Given the description of an element on the screen output the (x, y) to click on. 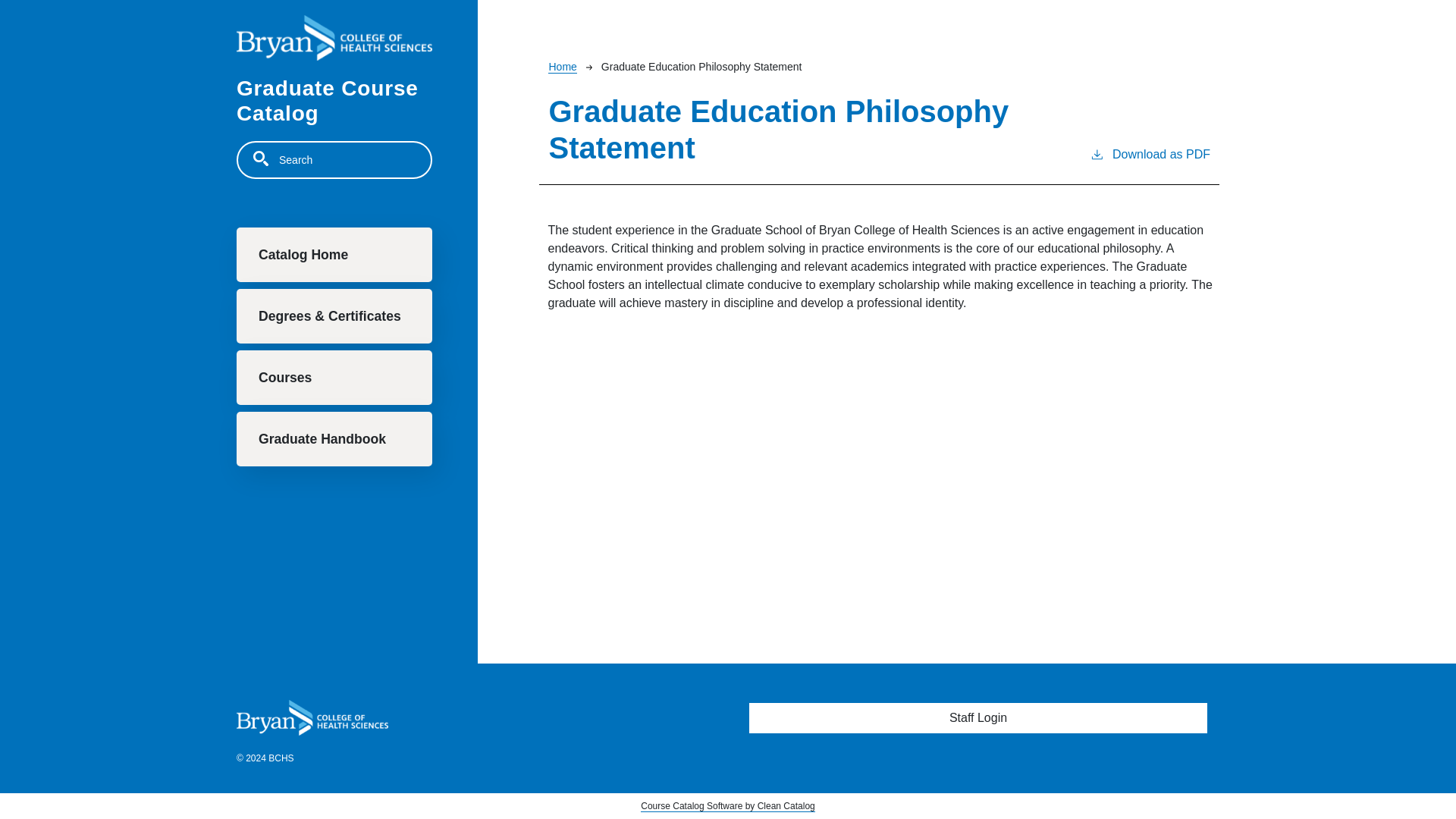
Graduate Handbook (333, 438)
Home (562, 66)
Search (260, 158)
Courses (333, 377)
Search (260, 158)
Course Catalog Software by Clean Catalog (726, 806)
Staff Login (978, 717)
Catalog Home (333, 254)
Download as PDF (1149, 164)
